Given the description of an element on the screen output the (x, y) to click on. 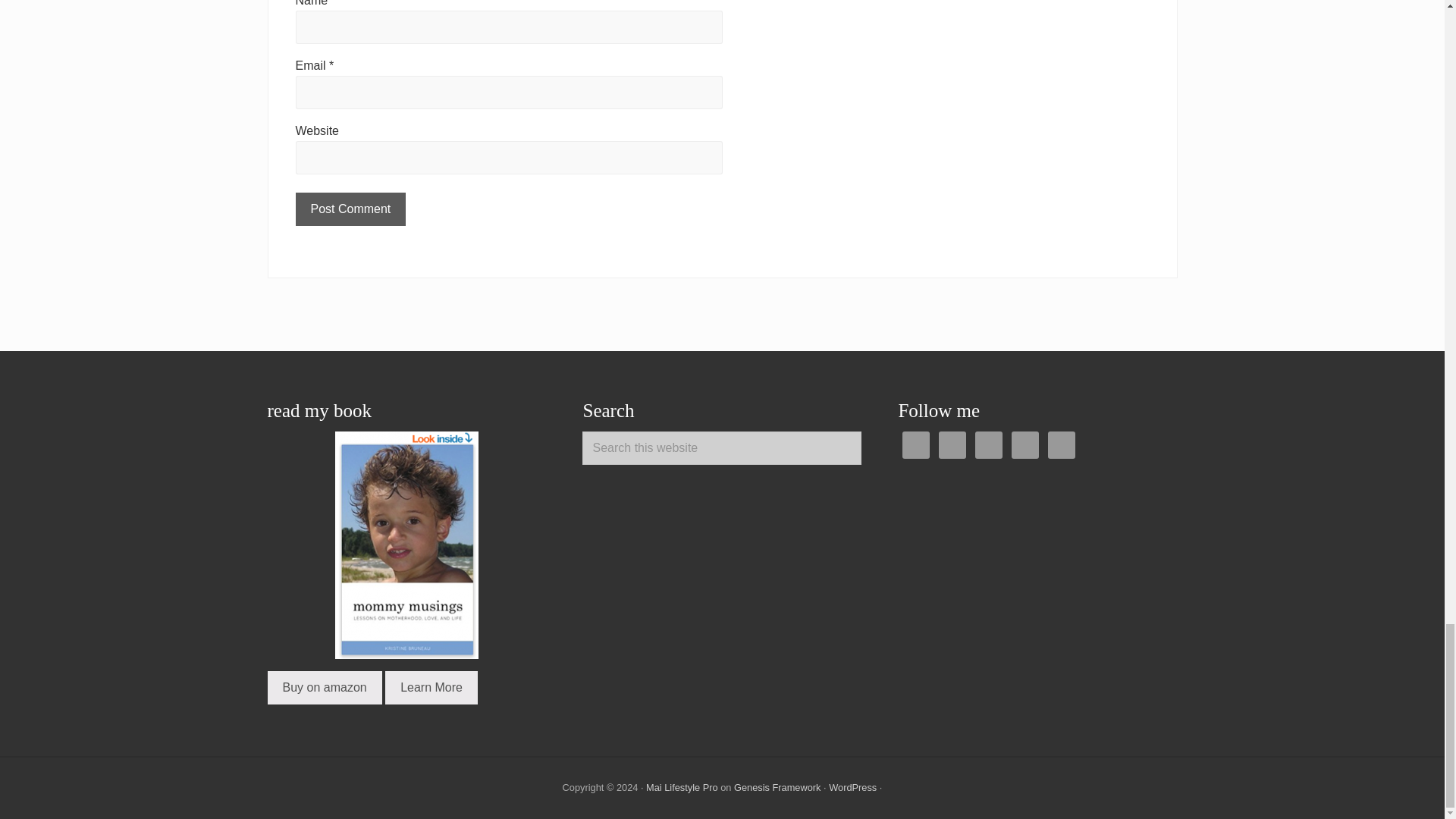
Post Comment (350, 209)
